Given the description of an element on the screen output the (x, y) to click on. 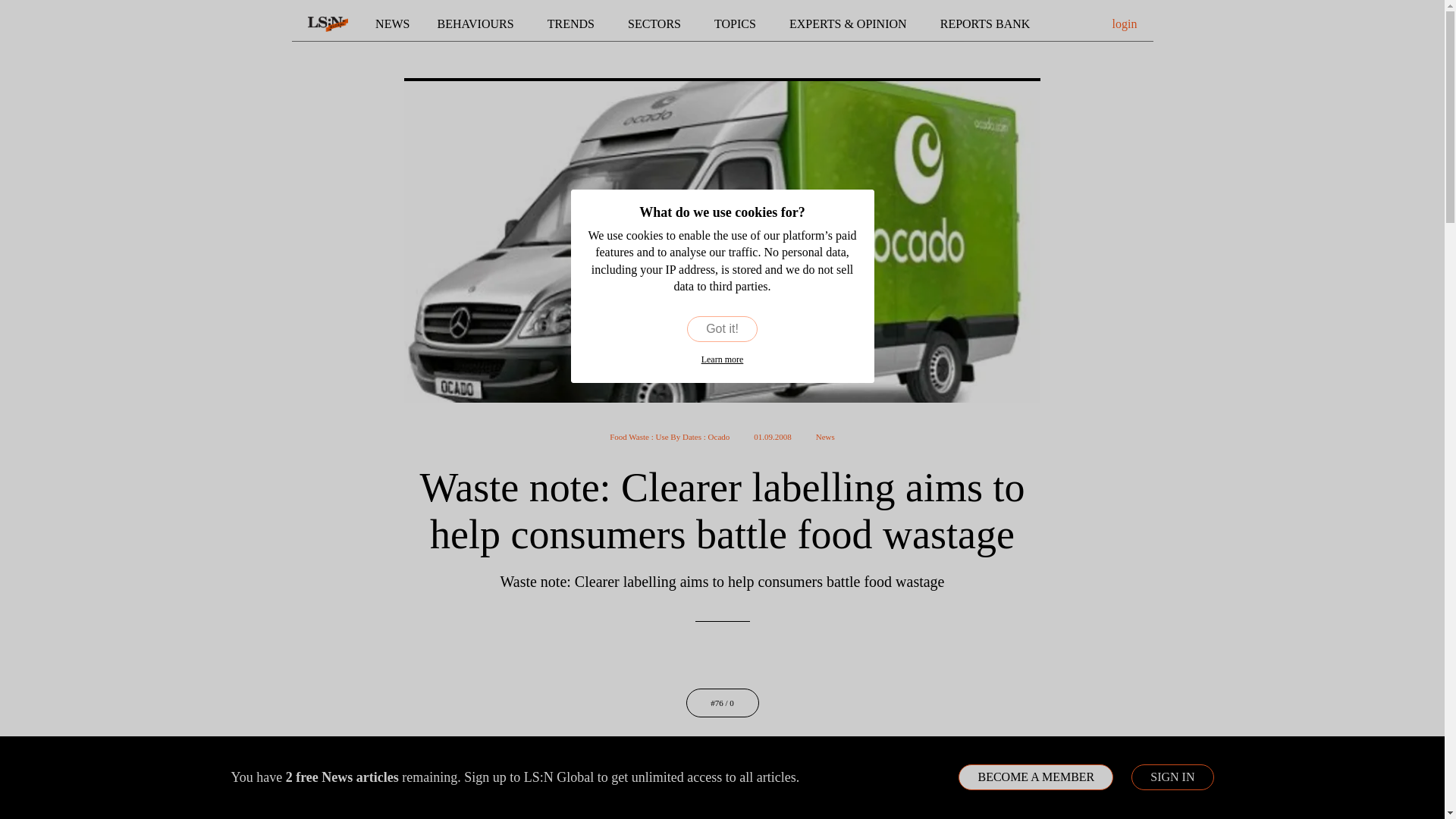
News (392, 24)
NEWS (392, 24)
BEHAVIOURS (478, 24)
Behaviours (478, 24)
TRENDS (573, 24)
LS:N Global (327, 24)
Trends (573, 24)
